Given the description of an element on the screen output the (x, y) to click on. 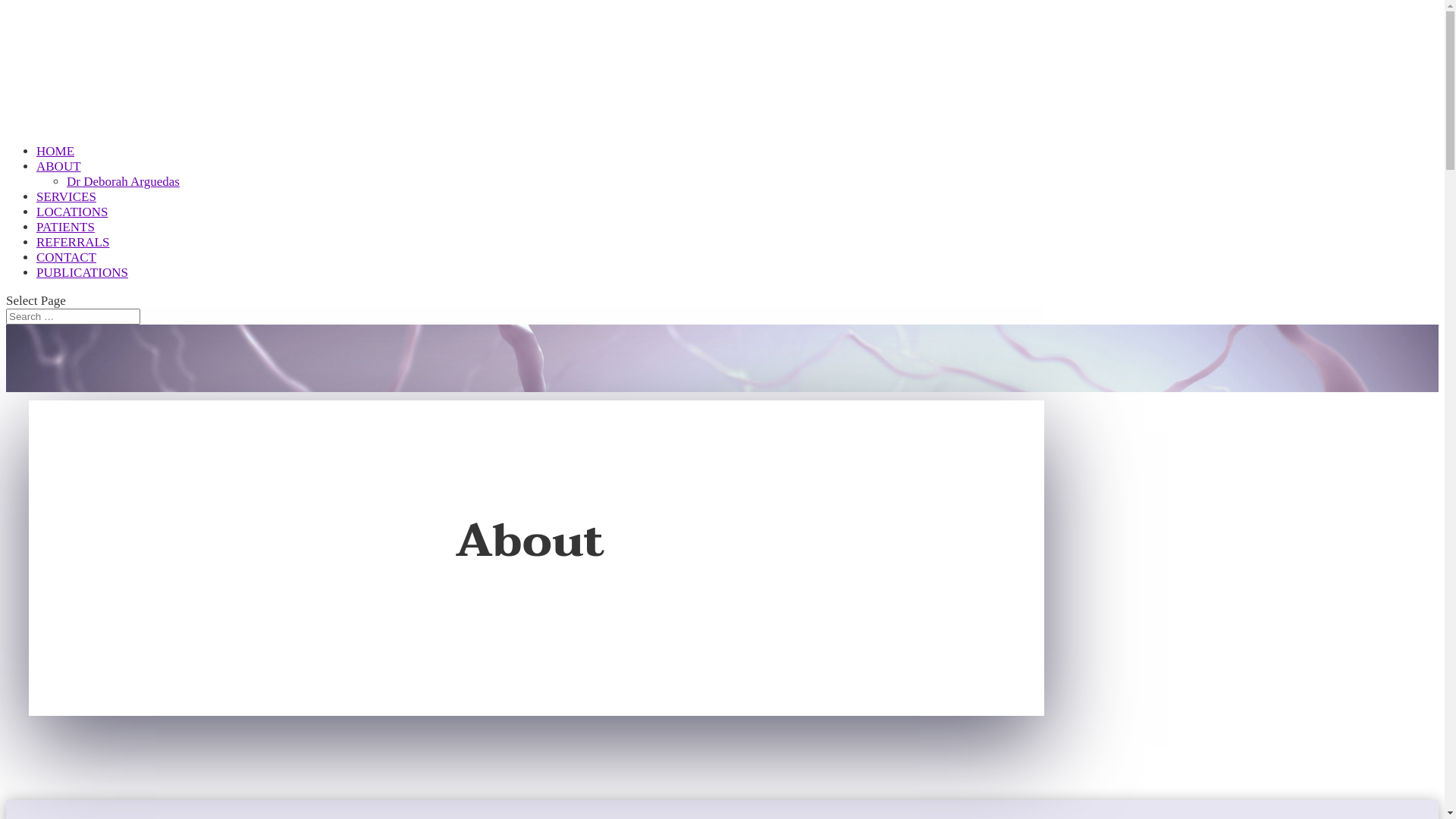
ABOUT Element type: text (58, 181)
Dr Deborah Arguedas Element type: text (122, 181)
PATIENTS Element type: text (65, 241)
SERVICES Element type: text (66, 211)
PUBLICATIONS Element type: text (82, 287)
HOME Element type: text (55, 166)
CONTACT Element type: text (66, 272)
REFERRALS Element type: text (72, 257)
Search for: Element type: hover (73, 316)
LOCATIONS Element type: text (71, 226)
